Given the description of an element on the screen output the (x, y) to click on. 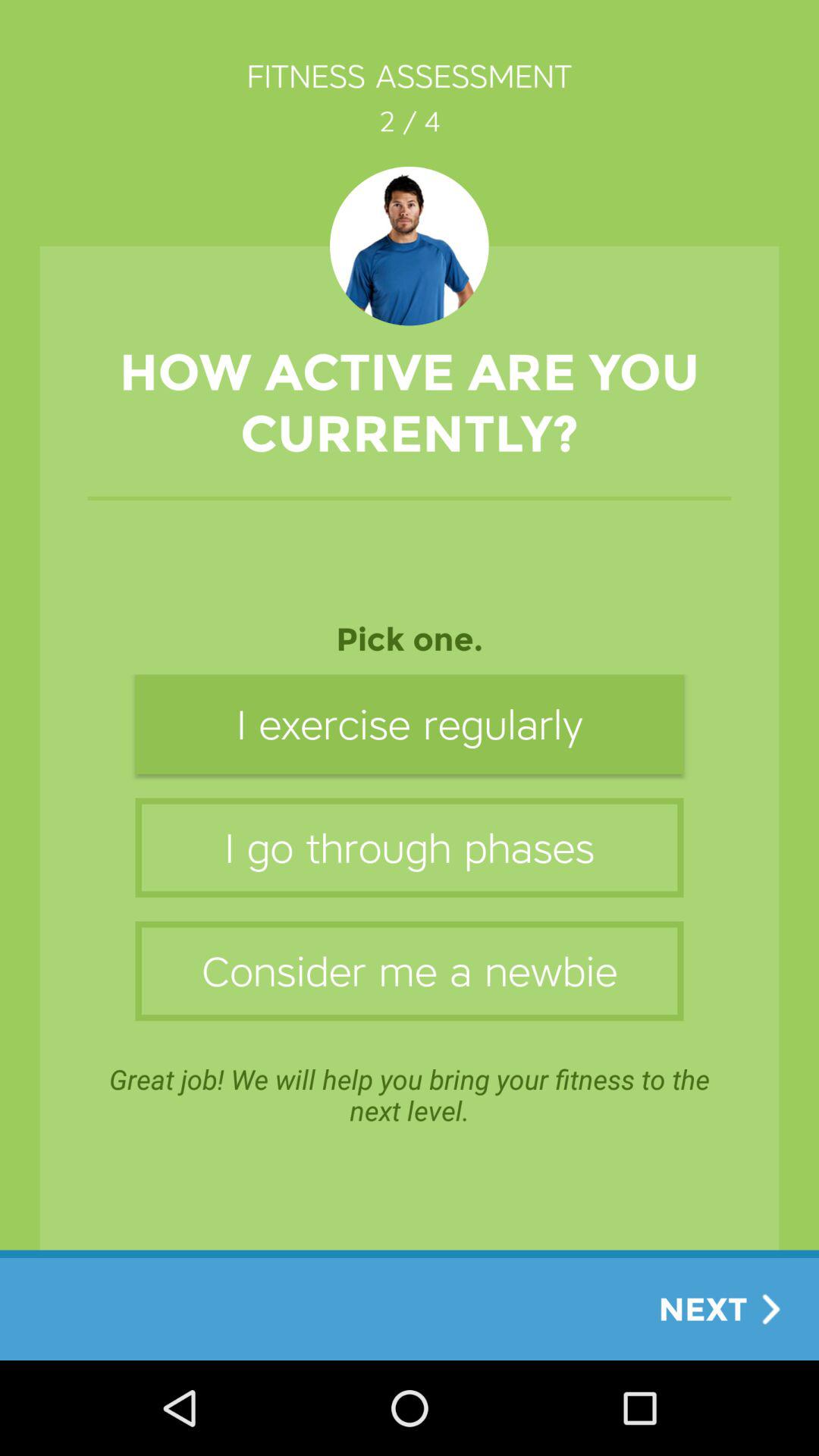
click the item below i go through item (409, 970)
